Given the description of an element on the screen output the (x, y) to click on. 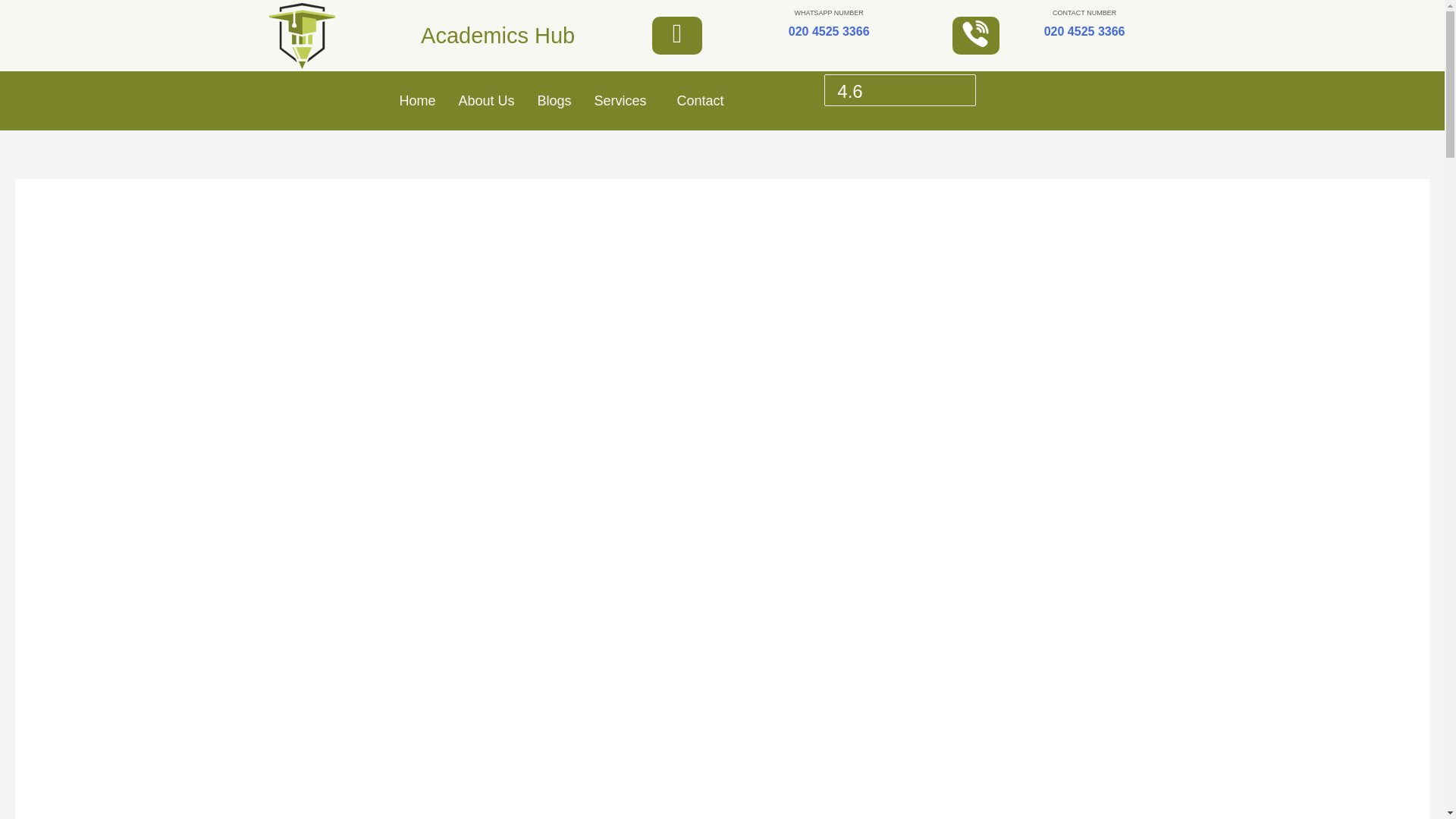
020 4525 3366 (829, 31)
Home (416, 100)
About Us (485, 100)
020 4525 3366 (1084, 31)
Services (623, 100)
Blogs (553, 100)
